Given the description of an element on the screen output the (x, y) to click on. 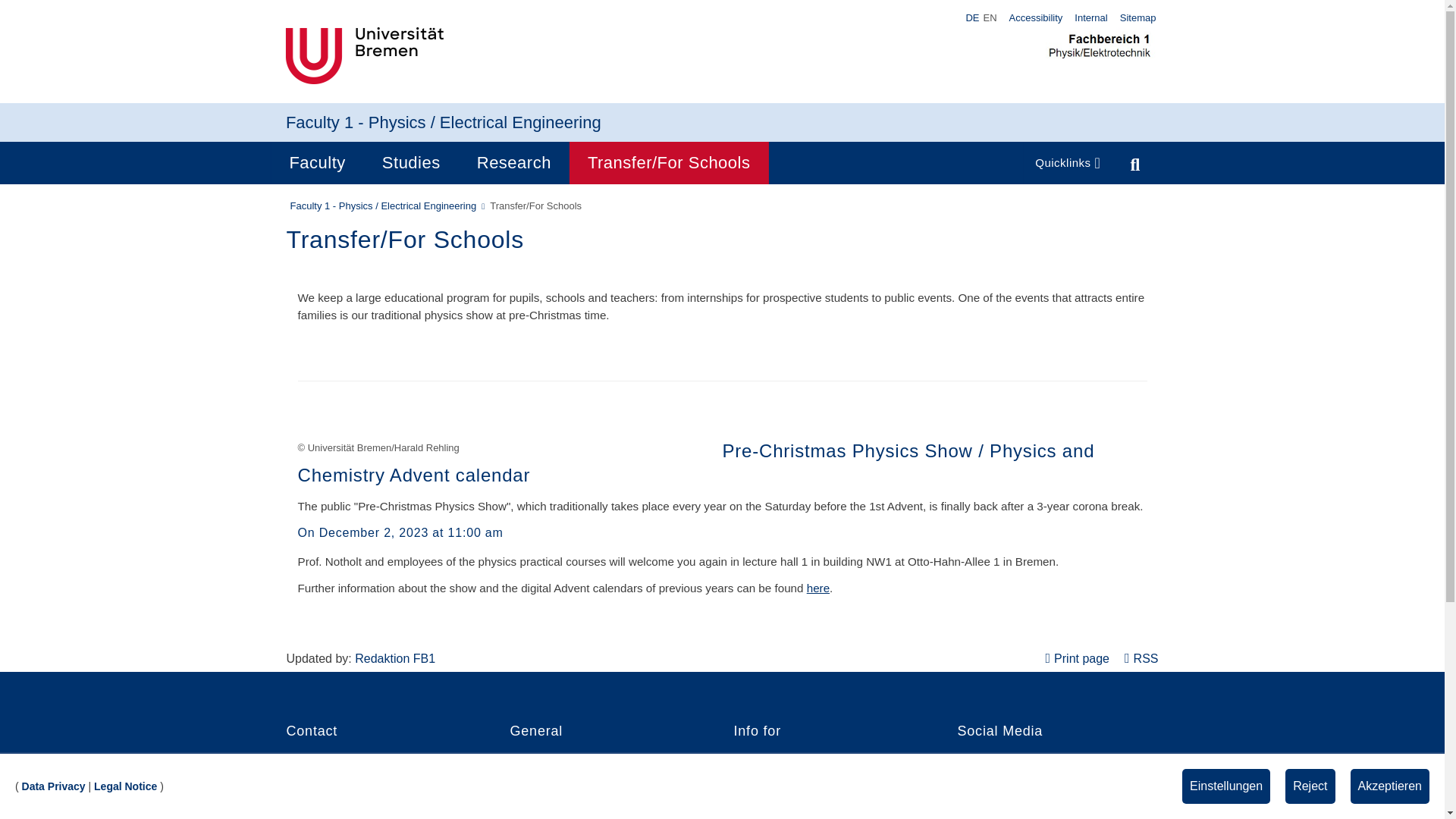
Open link to Instagram in a new window (994, 801)
Sitemap (1137, 16)
Scroll to the bottom of the page (1411, 786)
Internal (1090, 16)
DE (971, 17)
Seite als RSS Feed (1140, 658)
Accessibility (1035, 16)
Open link to Linked In in a new window (990, 818)
Opens internal link in current window (817, 587)
